Given the description of an element on the screen output the (x, y) to click on. 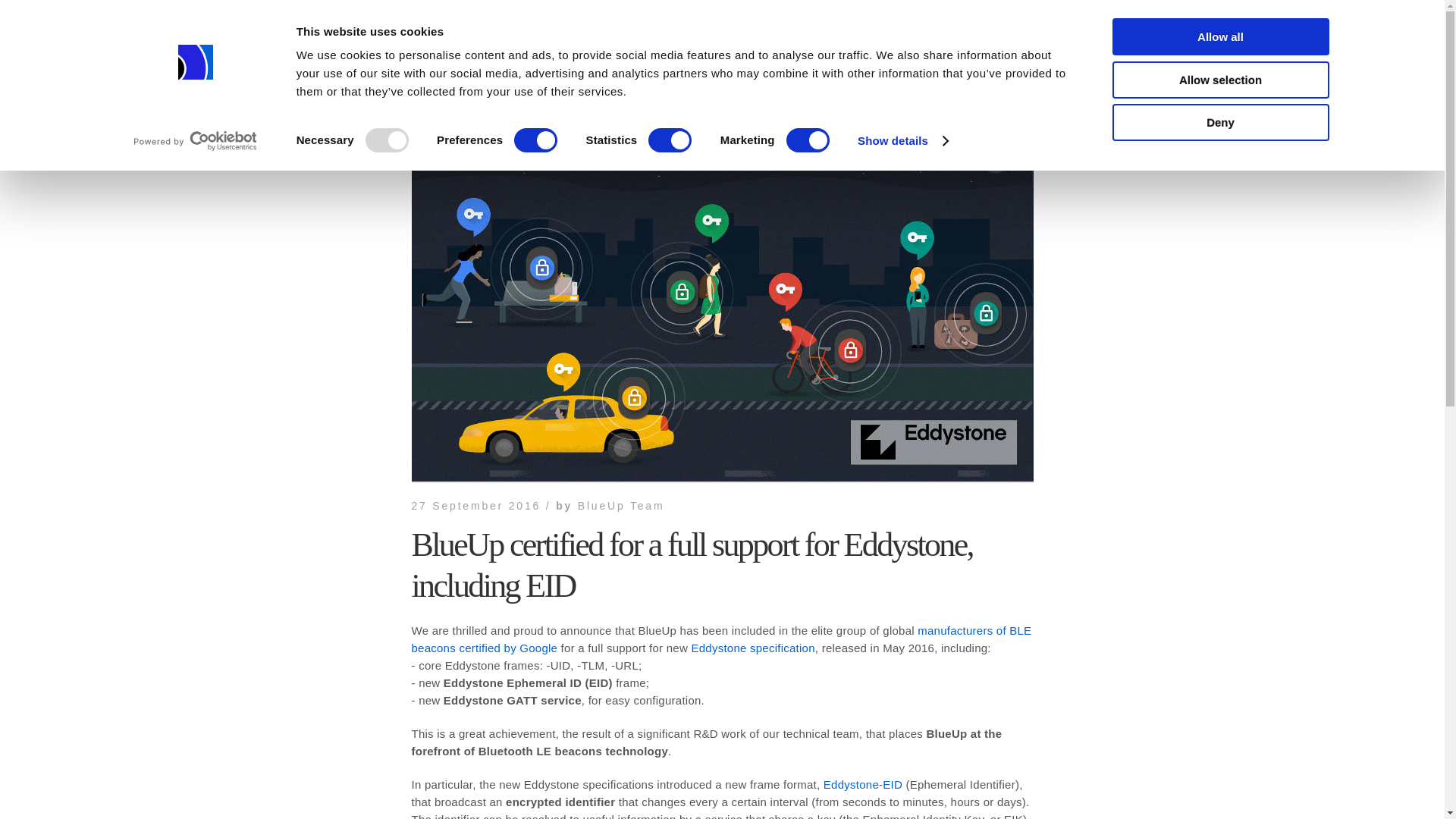
Allow all (1219, 36)
EN (311, 20)
SHOP (1022, 19)
Allow selection (1219, 78)
Deny (1219, 122)
SHOP (985, 21)
Show details (902, 140)
